Given the description of an element on the screen output the (x, y) to click on. 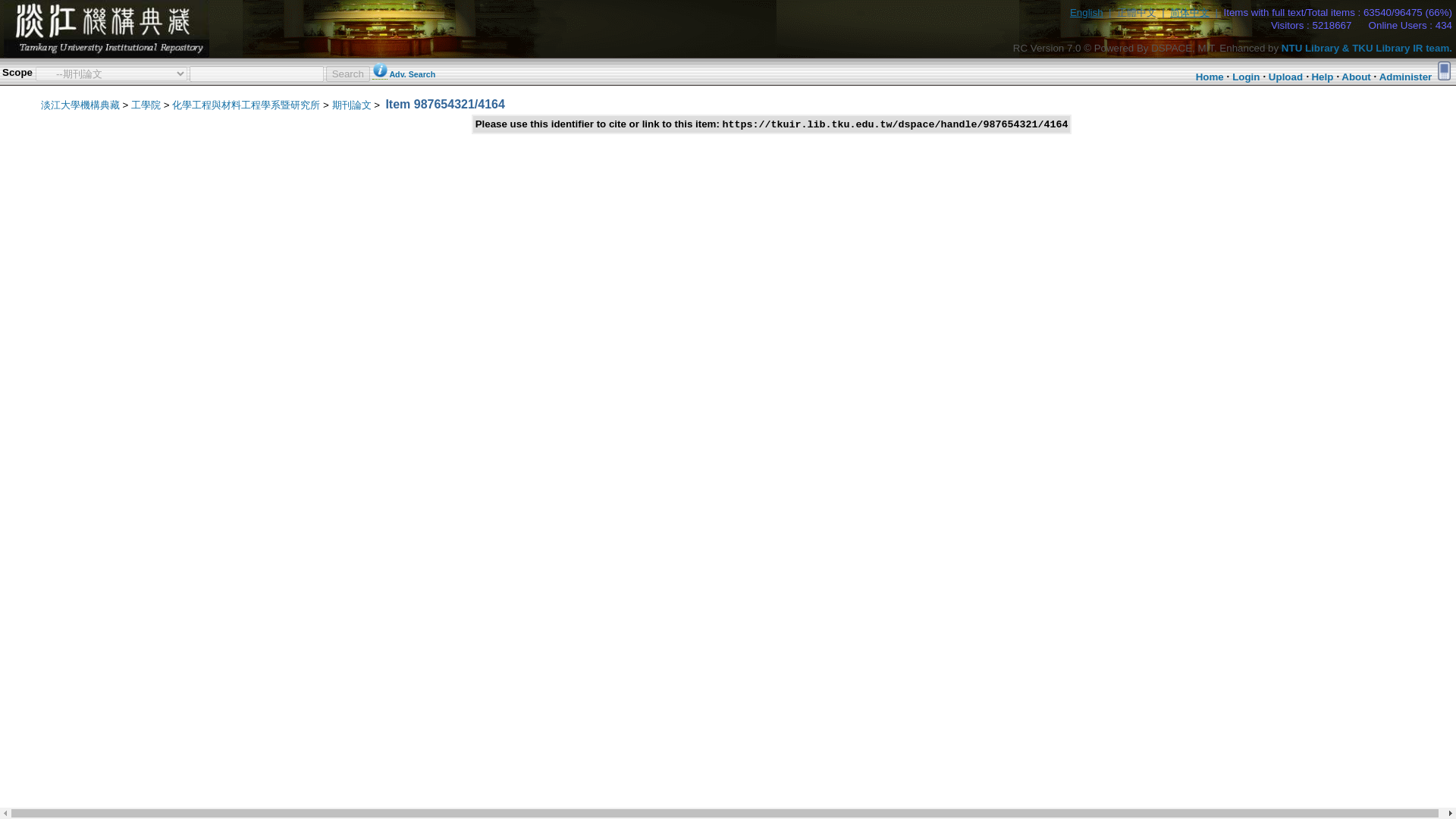
Search (347, 73)
Help (1322, 76)
Administer (1405, 76)
Home (1209, 76)
Adv. Search (411, 73)
About (1355, 76)
Search (347, 73)
Login (1245, 76)
Goto mobile version (1443, 69)
English (1087, 12)
